Given the description of an element on the screen output the (x, y) to click on. 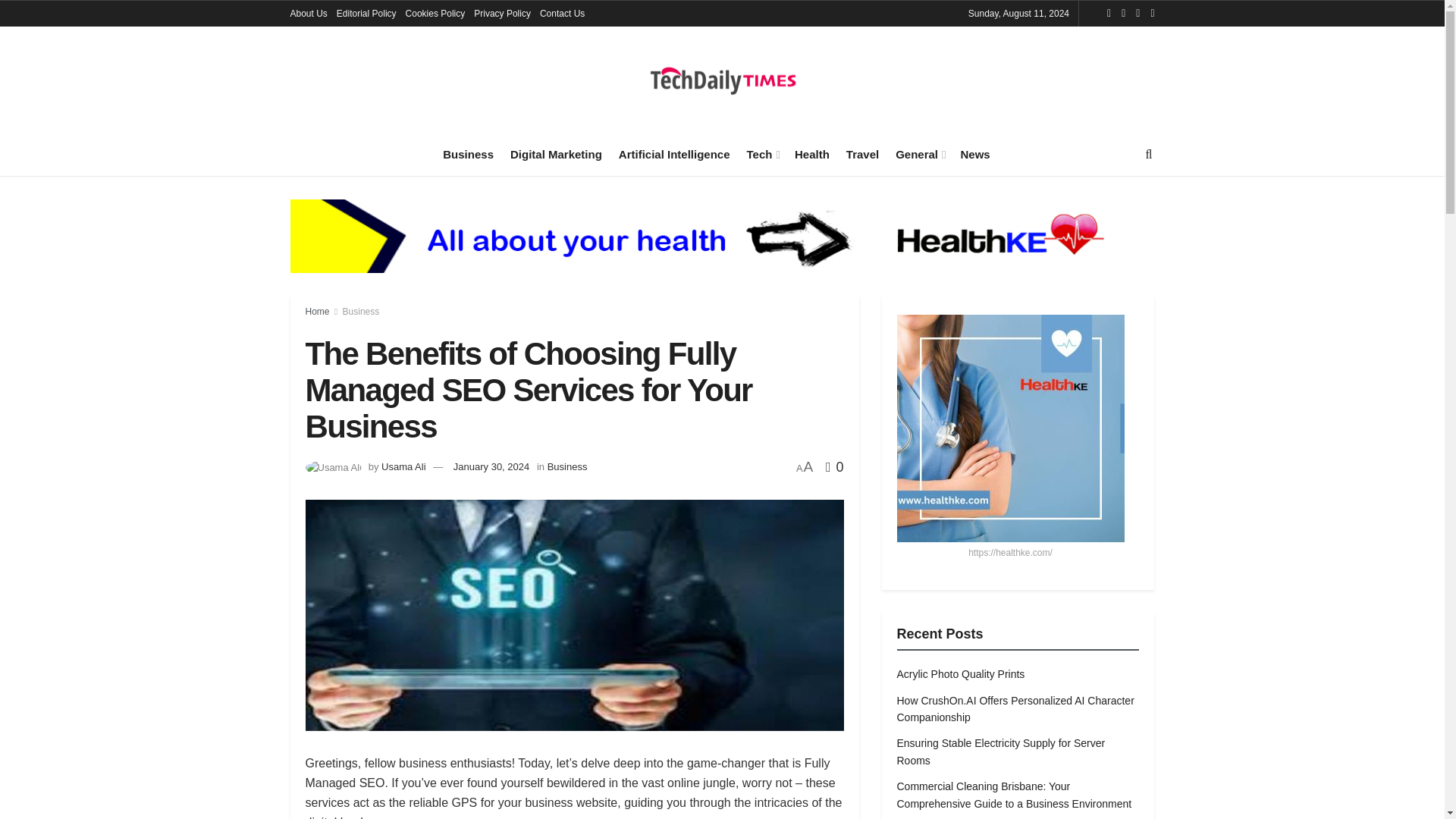
Artificial Intelligence (674, 154)
General (919, 154)
Editorial Policy (366, 13)
Digital Marketing (556, 154)
About Us (307, 13)
Privacy Policy (502, 13)
Business (467, 154)
Cookies Policy (435, 13)
Contact Us (562, 13)
